Given the description of an element on the screen output the (x, y) to click on. 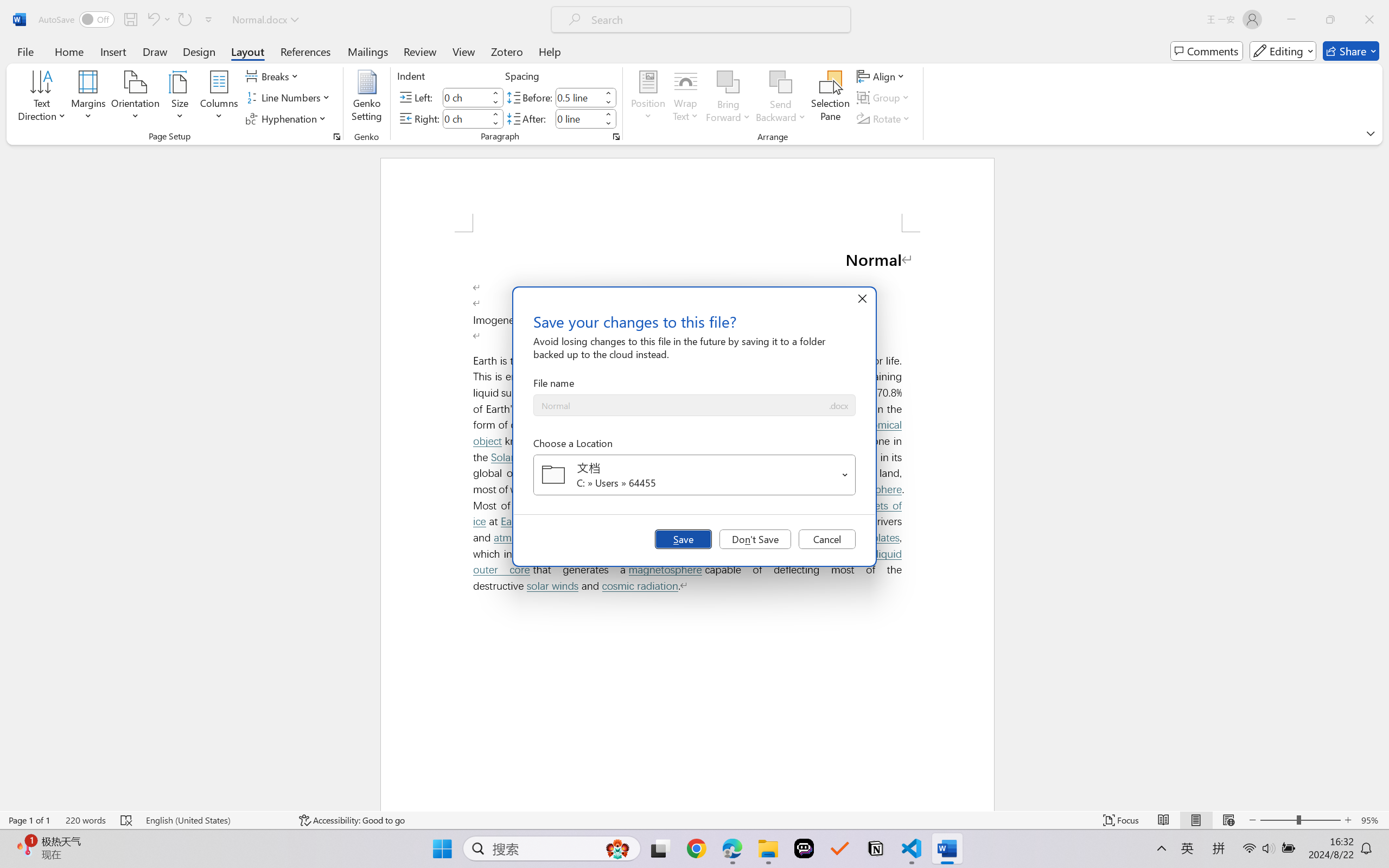
Columns (219, 97)
solar winds (551, 585)
Send Backward (781, 97)
Google Chrome (696, 848)
Indent Left (465, 96)
